Given the description of an element on the screen output the (x, y) to click on. 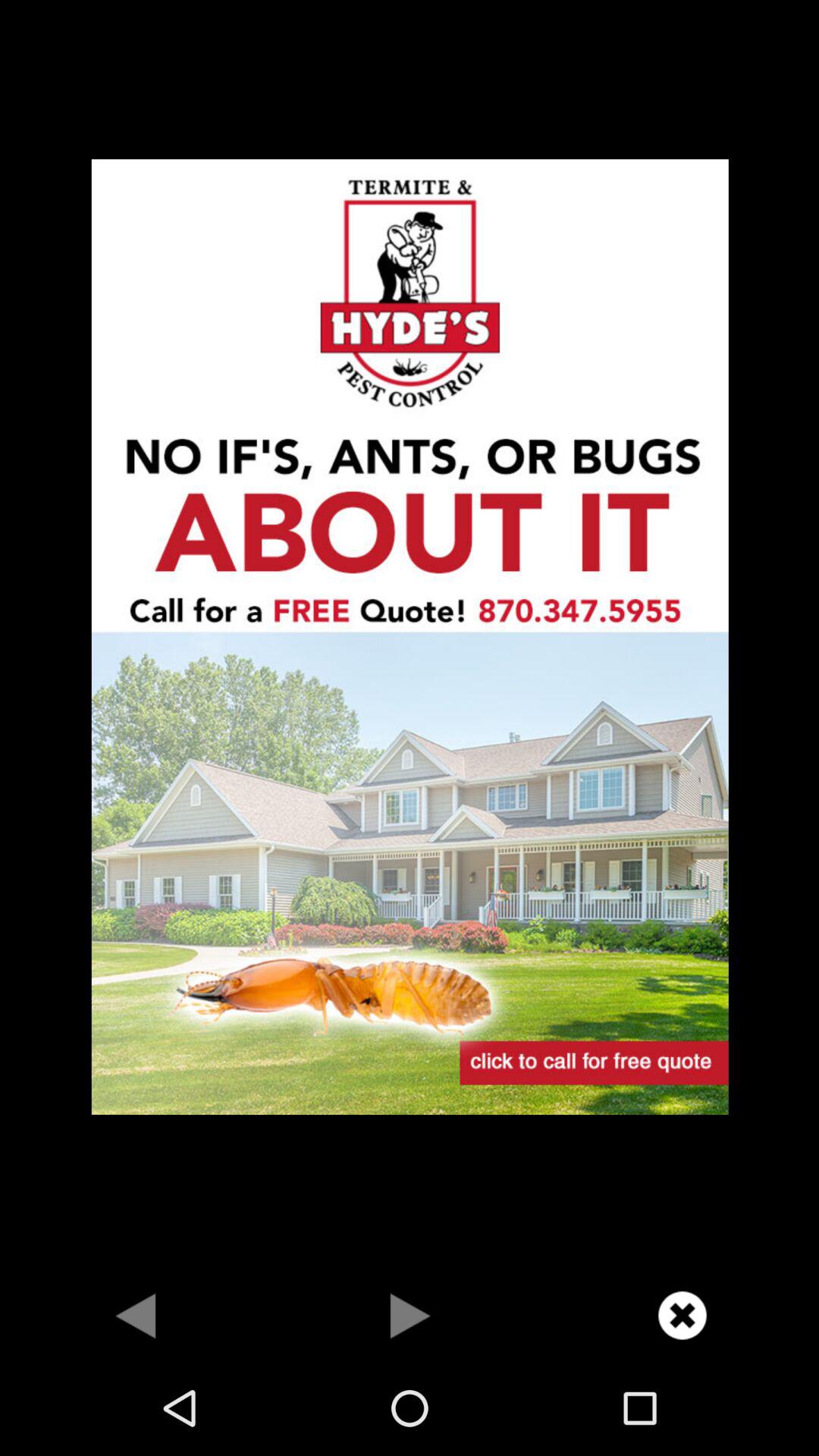
play the video (409, 1315)
